Given the description of an element on the screen output the (x, y) to click on. 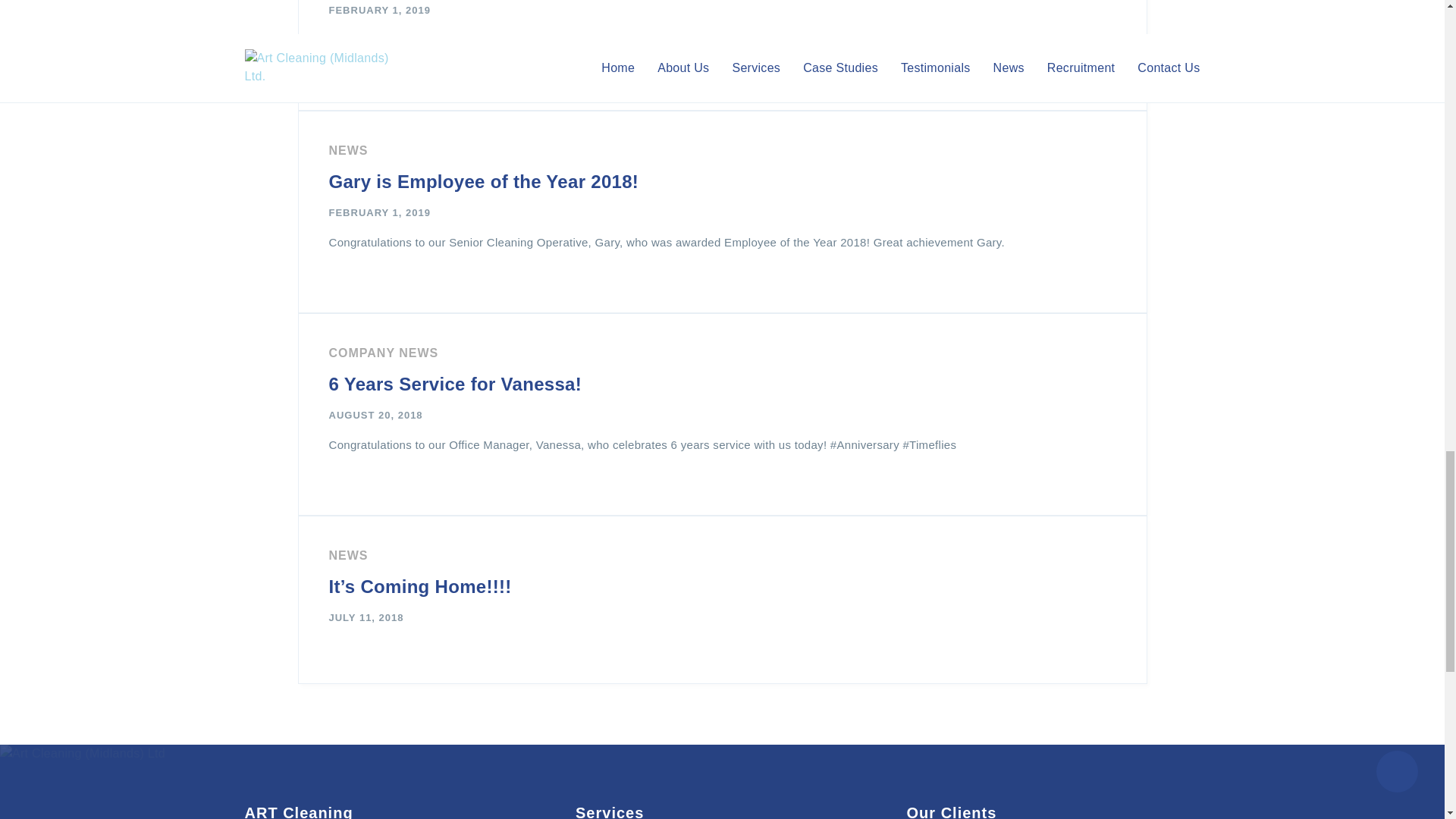
Gary is Employee of the Year 2018! (484, 181)
News (348, 554)
News (348, 150)
Company News (384, 352)
6 Years Service for Vanessa! (455, 383)
